Given the description of an element on the screen output the (x, y) to click on. 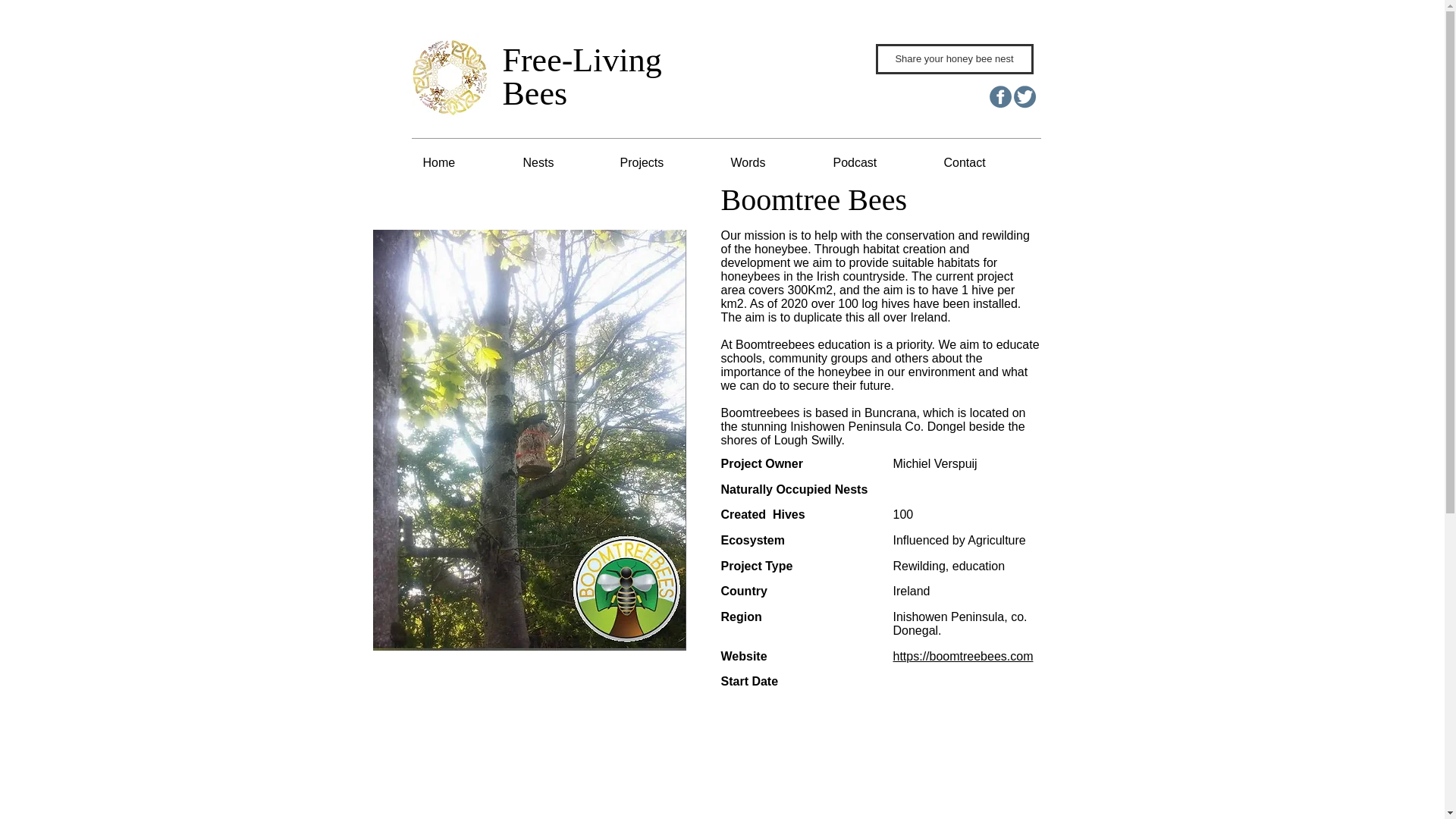
Boomtree Bees (528, 440)
Contact (987, 162)
Share your honey bee nest (953, 59)
Podcast (877, 162)
Nests (559, 162)
Words (770, 162)
Projects (663, 162)
Home (460, 162)
